Given the description of an element on the screen output the (x, y) to click on. 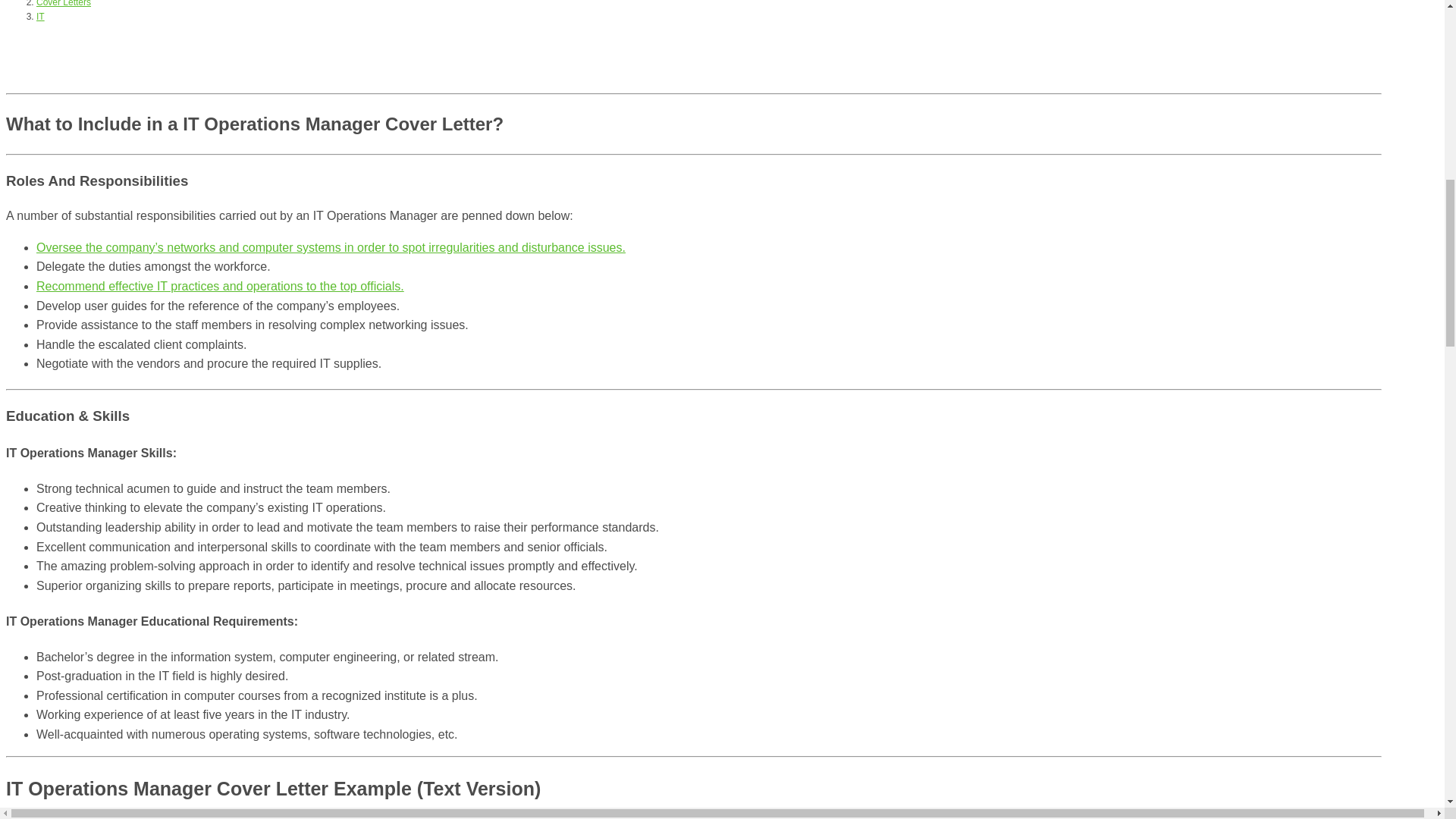
Cover Letters (63, 3)
